Given the description of an element on the screen output the (x, y) to click on. 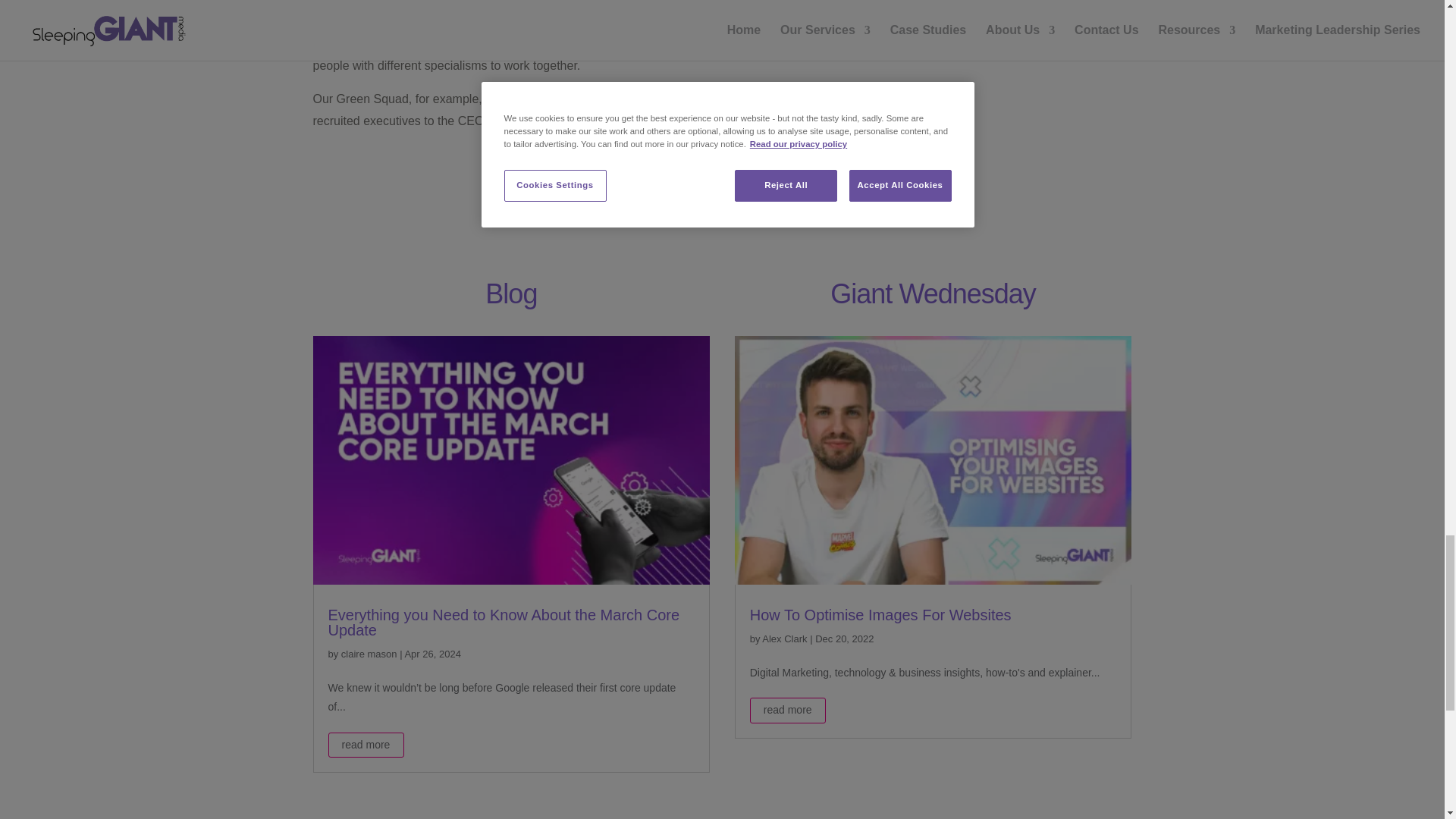
Posts by Alex Clark (783, 638)
Posts by claire mason (368, 654)
